Given the description of an element on the screen output the (x, y) to click on. 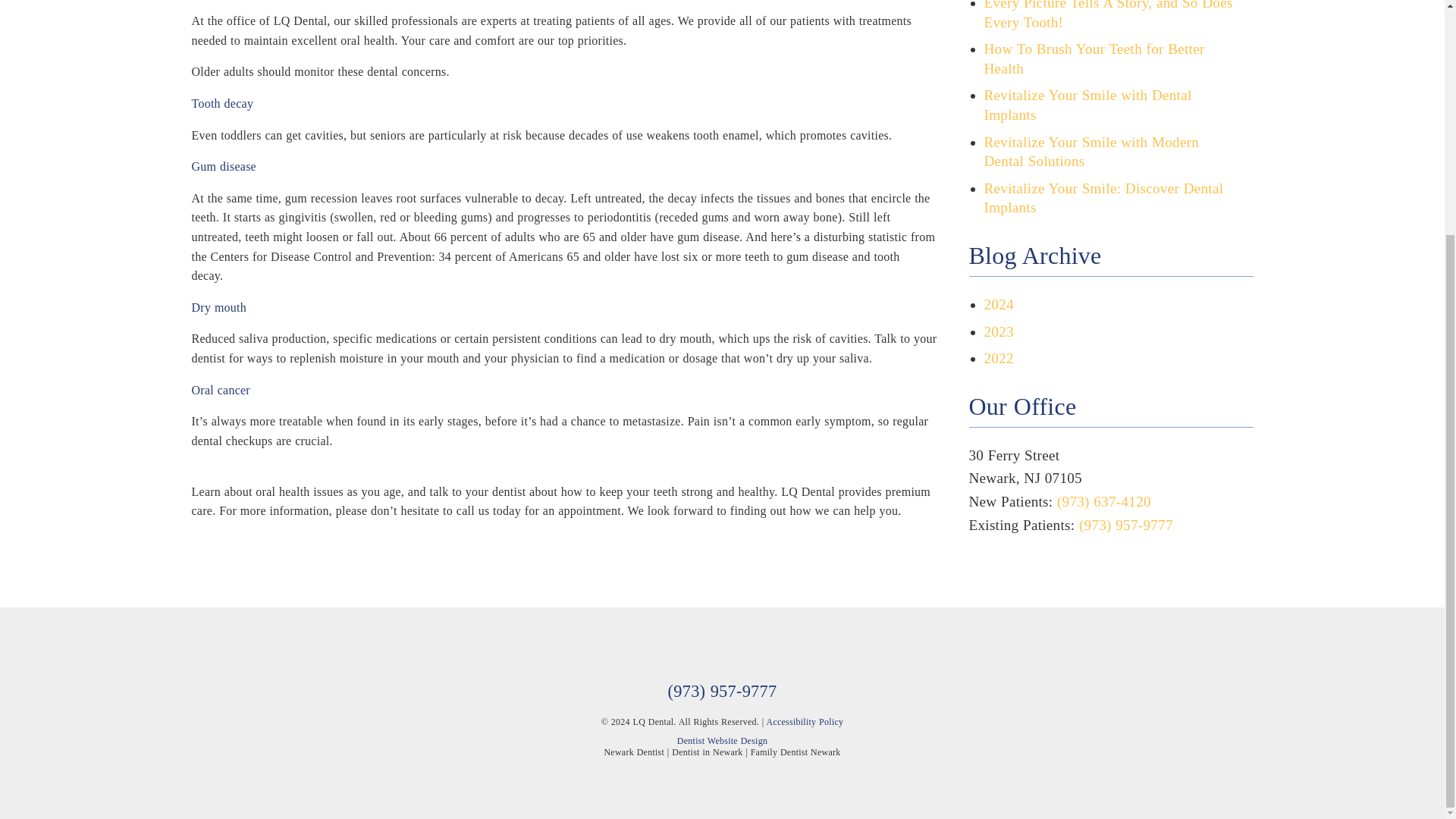
Revitalize Your Smile with Dental Implants (1088, 104)
How To Brush Your Teeth for Better Health (1094, 58)
2022 (998, 358)
Dentist Website Design (722, 740)
Accessibility Policy (804, 721)
2023 (998, 331)
Revitalize Your Smile: Discover Dental Implants (1104, 198)
Every Picture Tells A Story, and So Does Every Tooth! (1108, 15)
Revitalize Your Smile with Modern Dental Solutions (1091, 151)
2024 (998, 304)
